Given the description of an element on the screen output the (x, y) to click on. 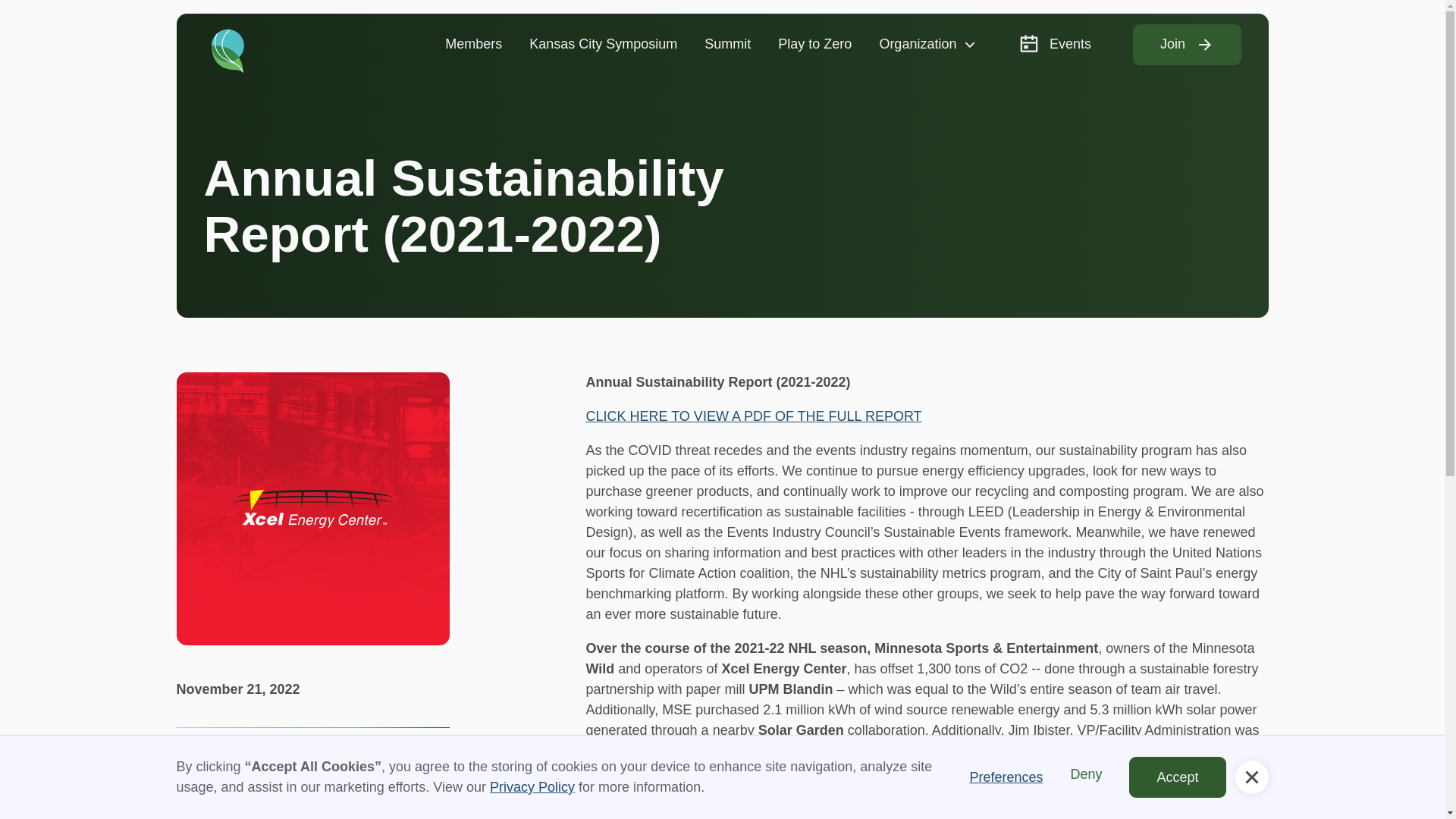
Kansas City Symposium (602, 44)
Play to Zero (814, 44)
CLICK HERE TO VIEW A PDF OF THE FULL REPORT (753, 415)
Events (1054, 43)
Members (472, 44)
Summit (727, 44)
Join (1186, 44)
